Given the description of an element on the screen output the (x, y) to click on. 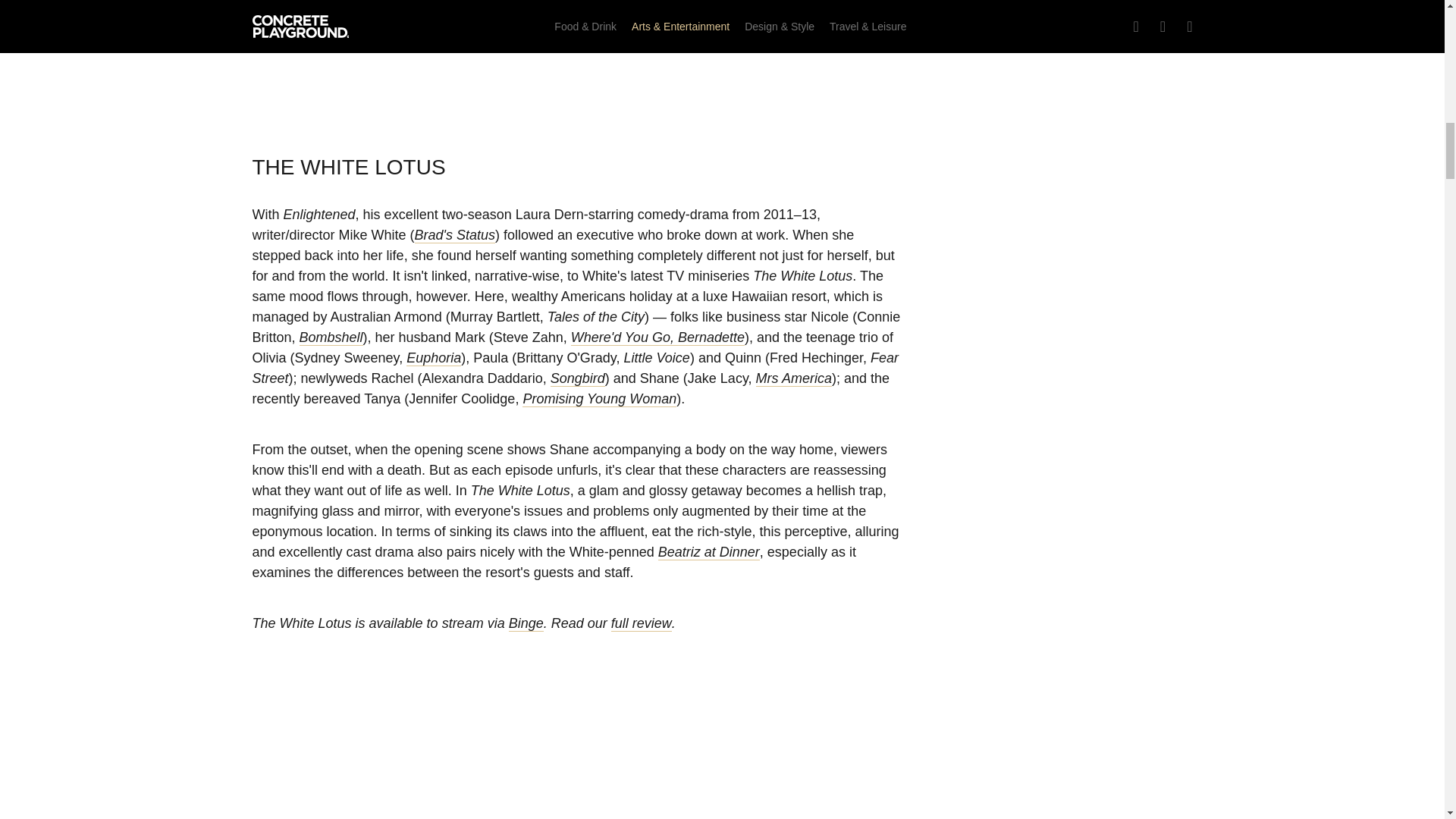
YouTube video player (577, 57)
YouTube video player (577, 757)
